Given the description of an element on the screen output the (x, y) to click on. 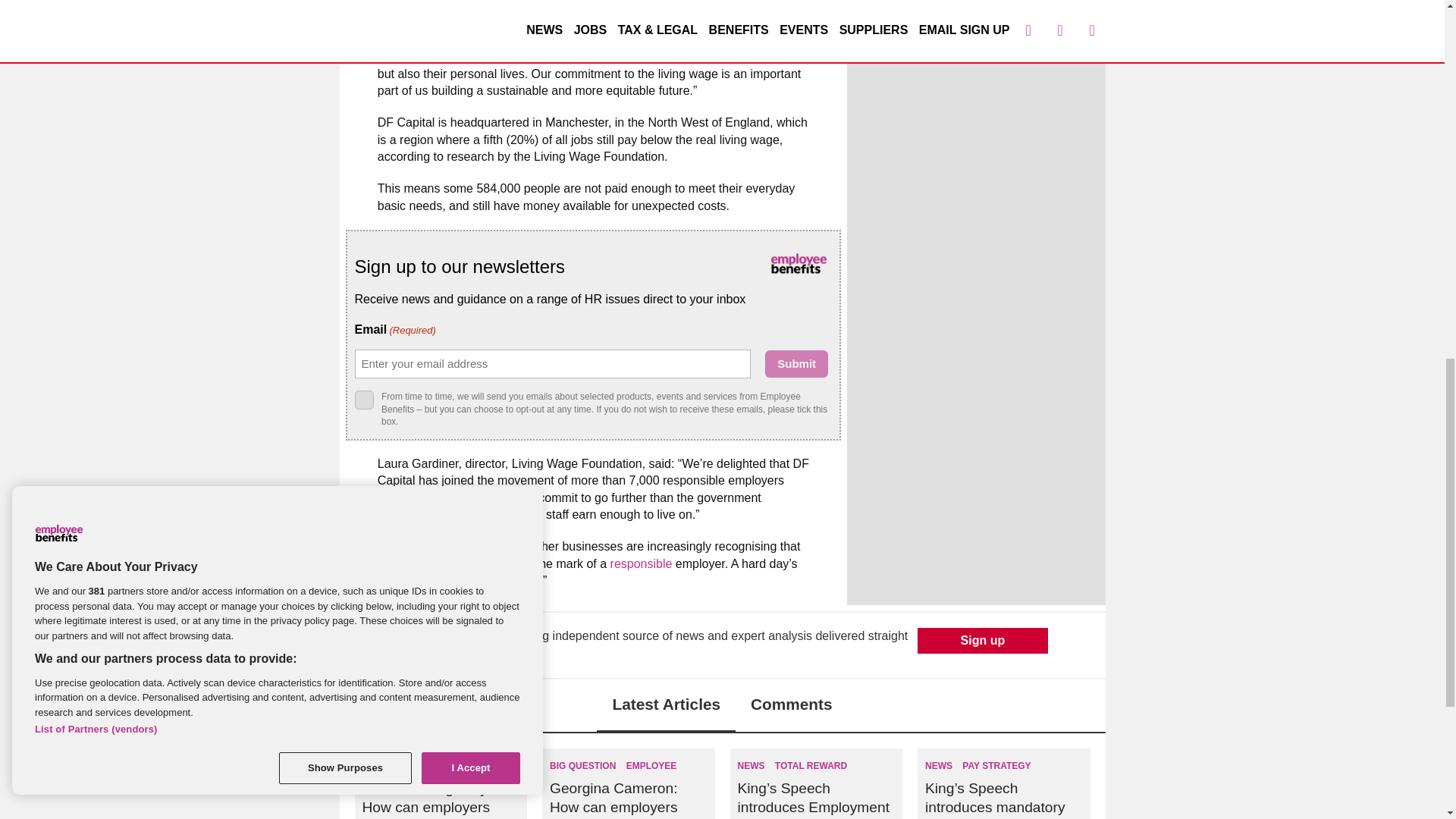
responsible (641, 563)
Submit (796, 363)
yes (364, 399)
Submit (796, 363)
